Given the description of an element on the screen output the (x, y) to click on. 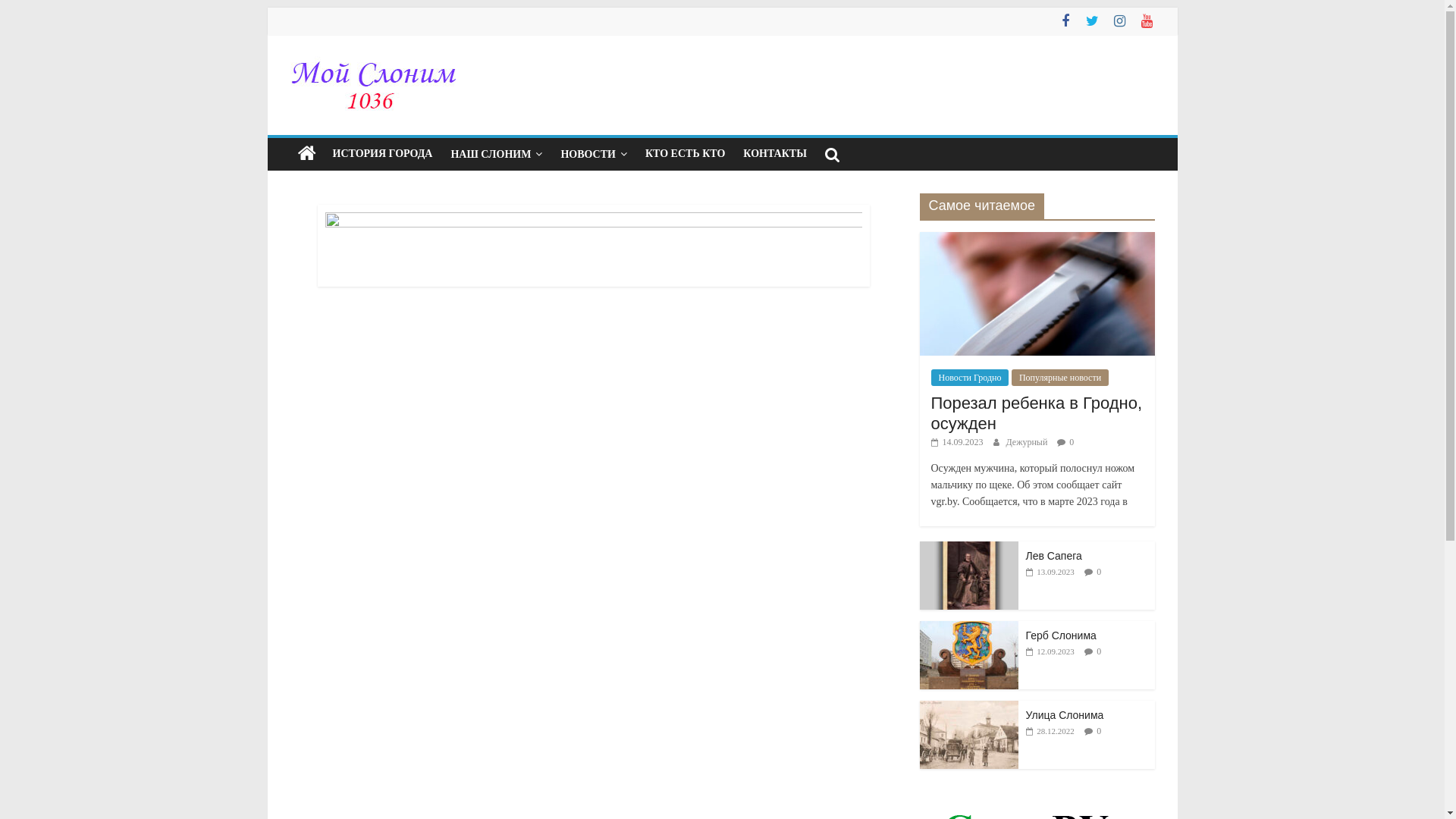
13.09.2023 Element type: text (1049, 571)
28.12.2022 Element type: text (1049, 730)
Skip to content Element type: text (266, 6)
0 Element type: text (1098, 571)
14.09.2023 Element type: text (957, 441)
0 Element type: text (1098, 651)
12.09.2023 Element type: text (1049, 650)
0 Element type: text (1098, 730)
0 Element type: text (1071, 441)
